Given the description of an element on the screen output the (x, y) to click on. 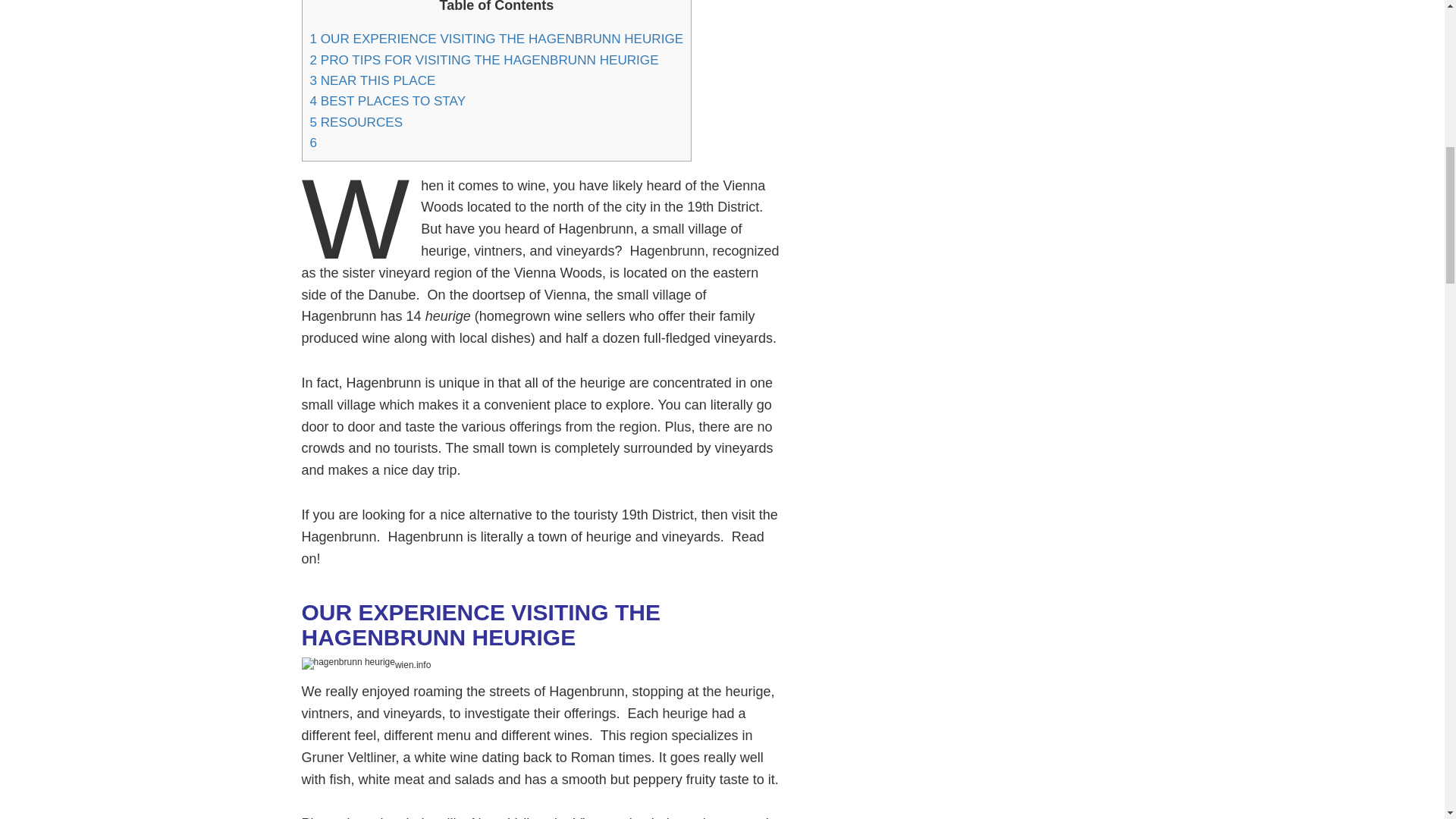
4 BEST PLACES TO STAY (386, 101)
2 PRO TIPS FOR VISITING THE HAGENBRUNN HEURIGE (483, 60)
5 RESOURCES (355, 122)
1 OUR EXPERIENCE VISITING THE HAGENBRUNN HEURIGE (495, 38)
3 NEAR THIS PLACE (371, 80)
